Given the description of an element on the screen output the (x, y) to click on. 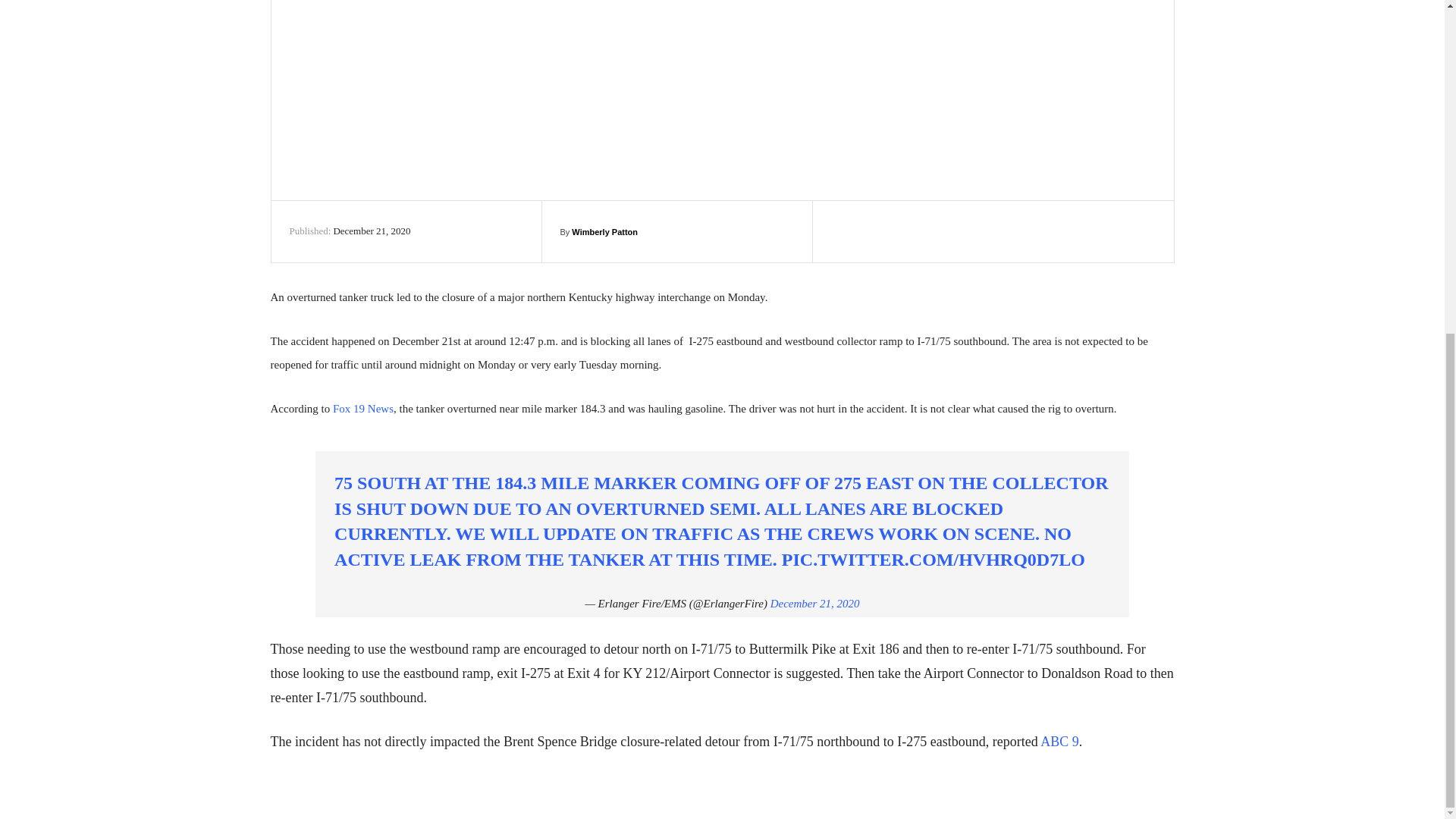
Wimberly Patton (604, 231)
ABC 9 (1059, 741)
December 21, 2020 (815, 603)
Fox 19 News (363, 408)
